Given the description of an element on the screen output the (x, y) to click on. 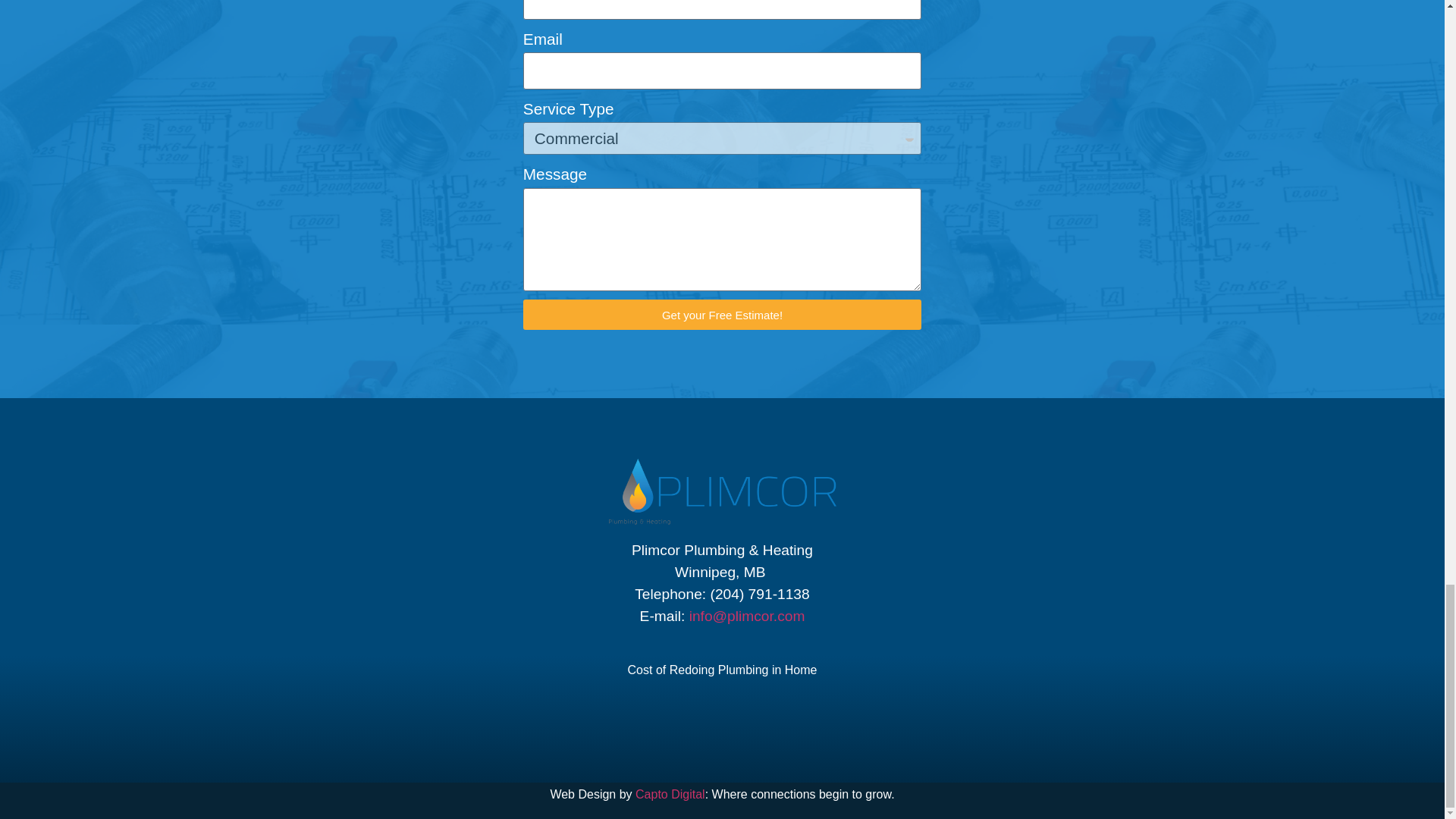
Get your Free Estimate! (721, 314)
Cost of Redoing Plumbing in Home (721, 669)
Capto Digital (669, 793)
